Given the description of an element on the screen output the (x, y) to click on. 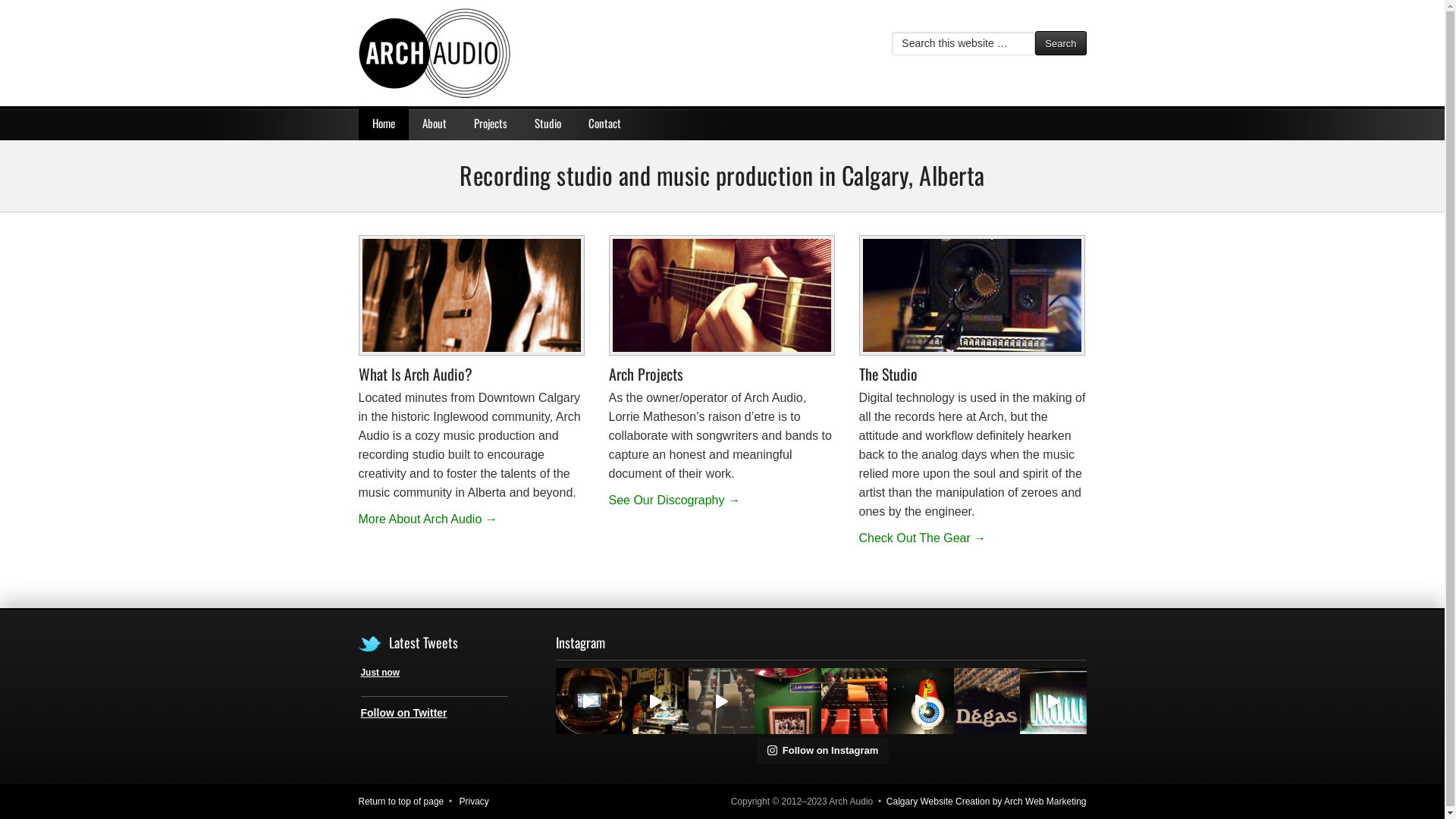
Getting down with the MiniBrute and the H3000. #Fe Element type: text (920, 701)
Home Element type: text (382, 123)
Projects Element type: text (489, 123)
Shakin' in the Rat's Nest Element type: text (654, 701)
Instagram post 18046271107138988 Element type: text (853, 701)
Privacy Element type: text (474, 801)
We are getting close to finishing up my old pal An Element type: text (721, 701)
Studio Element type: text (547, 123)
Arch Audio Element type: text (509, 52)
The Degas Element type: text (986, 701)
Search Element type: text (1060, 43)
Ephemera. Element type: text (787, 701)
Sometimes you gotta stack up the backups Element type: text (588, 701)
Follow on Instagram Element type: text (822, 750)
Return to top of page Element type: text (400, 801)
Calgary Website Creation by Arch Web Marketing Element type: text (986, 801)
Just now Element type: text (380, 671)
About Element type: text (433, 123)
Contact Element type: text (604, 123)
Follow on Twitter Element type: text (403, 712)
Bleep Bloop Element type: text (1052, 701)
